Given the description of an element on the screen output the (x, y) to click on. 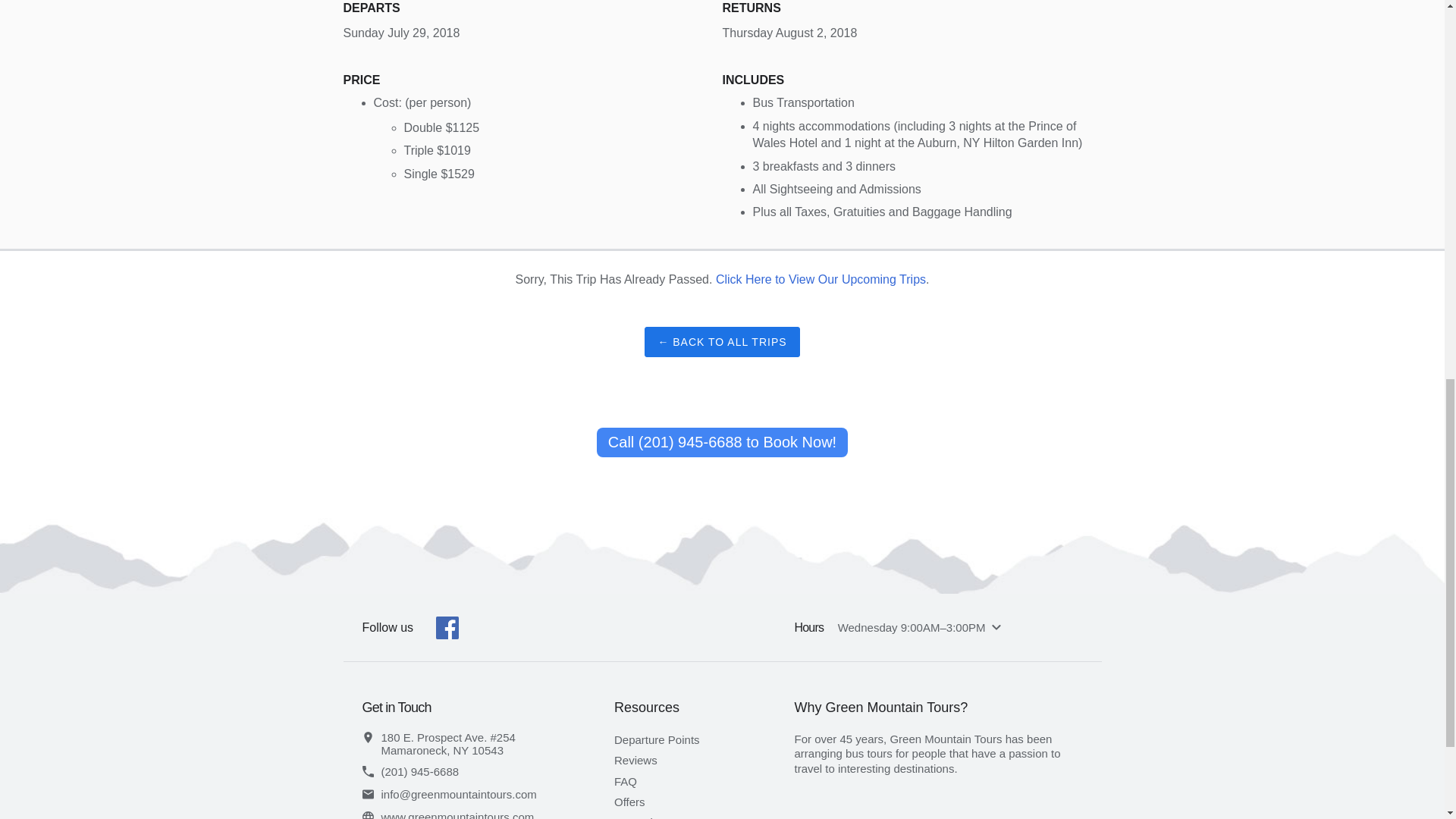
Click Here to View Our Upcoming Trips (821, 278)
Call Green Mountain Tours (488, 771)
Visit Our Facebook Page (446, 627)
Click Here to View Our Upcoming Trips (821, 278)
Get Directions to Green Mountain Tours (488, 743)
FAQ (625, 780)
Reviews (636, 759)
Offers (629, 801)
www.greenmountaintours.com (488, 815)
facebook (446, 627)
Departure Points (657, 739)
Past Trips (639, 817)
